Given the description of an element on the screen output the (x, y) to click on. 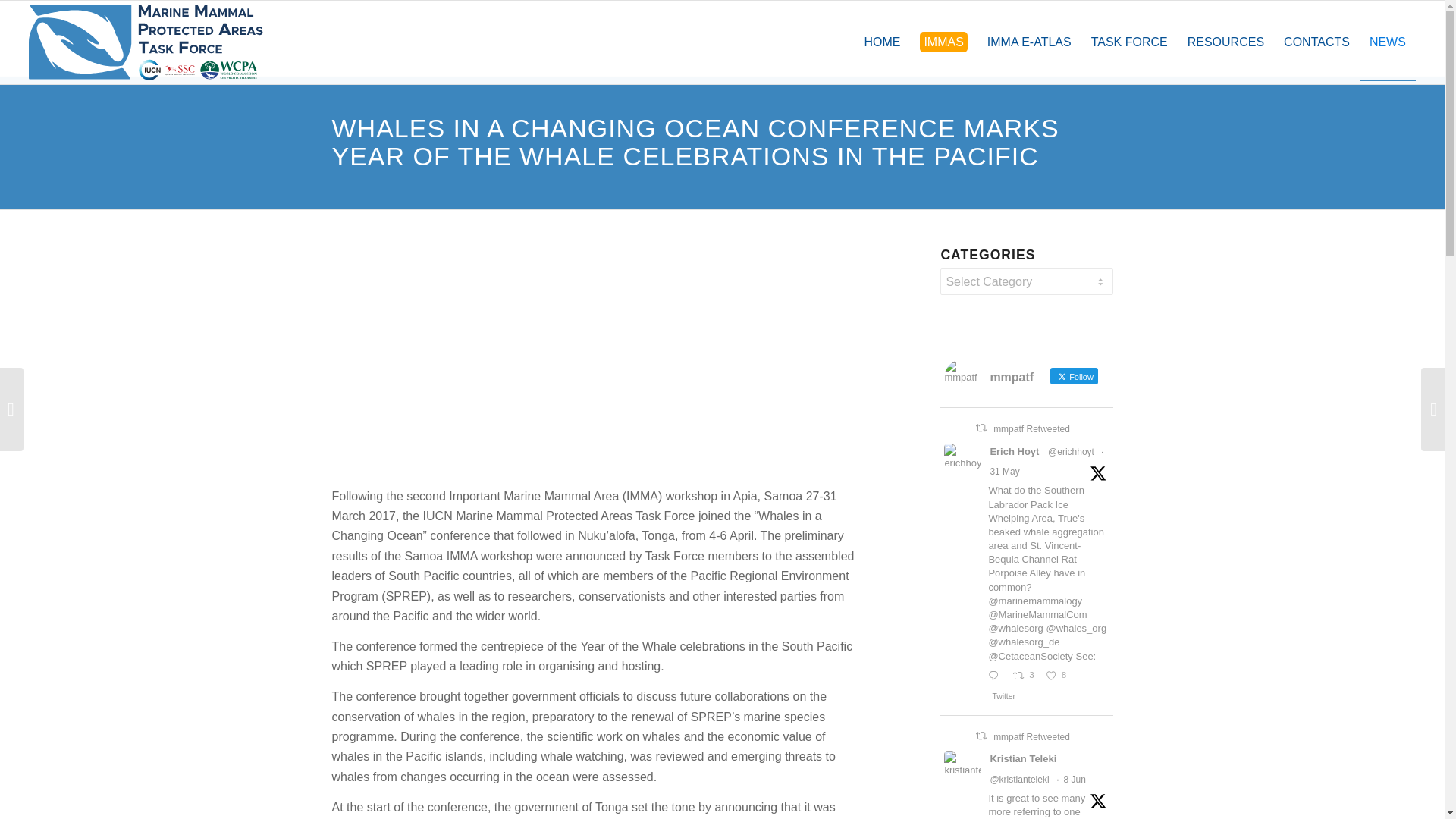
RESOURCES (1225, 42)
MMPATF-horizontal (145, 42)
IMMA E-ATLAS (1028, 42)
TASK FORCE (1129, 42)
MMPATF-horizontal (145, 42)
